Given the description of an element on the screen output the (x, y) to click on. 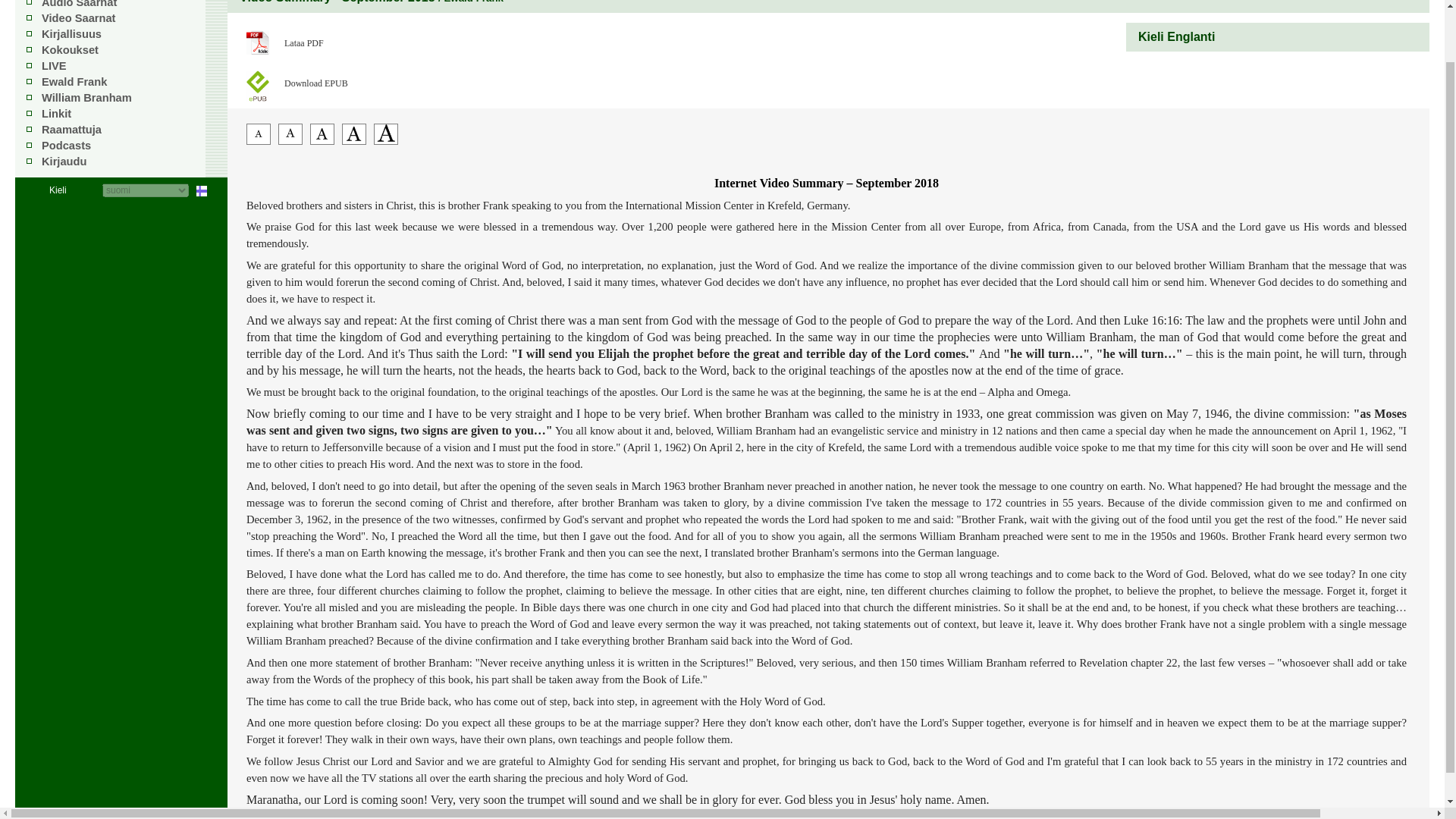
Video Saarnat (78, 18)
Raamattuja (71, 129)
Podcasts (66, 145)
LIVE (54, 65)
Ewald Frank (74, 81)
Kirjaudu (63, 161)
Kokoukset (70, 50)
extra large size (385, 140)
William Branham (87, 97)
Video Saarnat (78, 18)
Audio Saarnat (79, 4)
extra small size (258, 140)
small size (290, 140)
Lataa PDF (337, 39)
Linkit (56, 113)
